Given the description of an element on the screen output the (x, y) to click on. 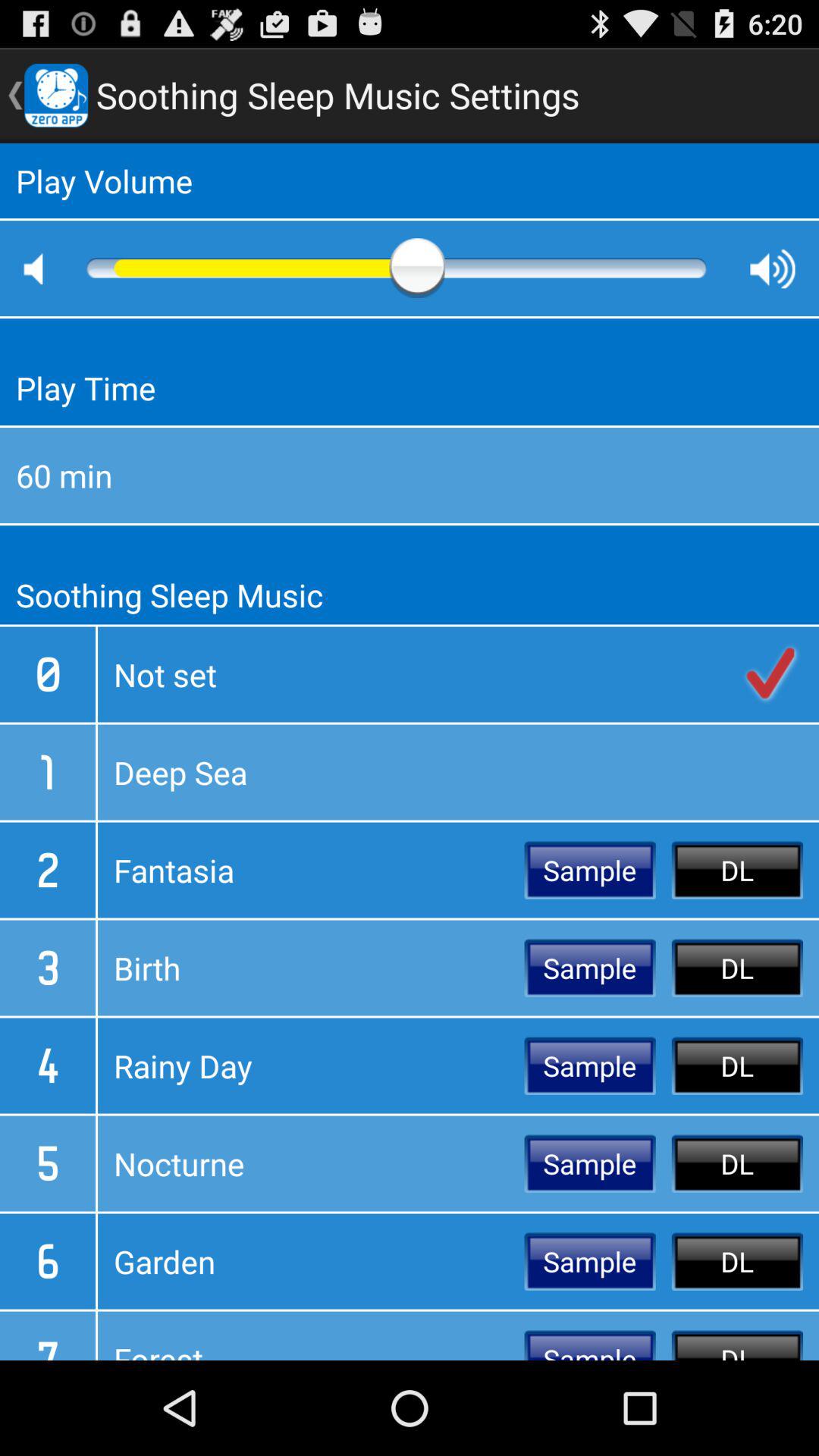
tap icon to the left of sample icon (310, 869)
